Given the description of an element on the screen output the (x, y) to click on. 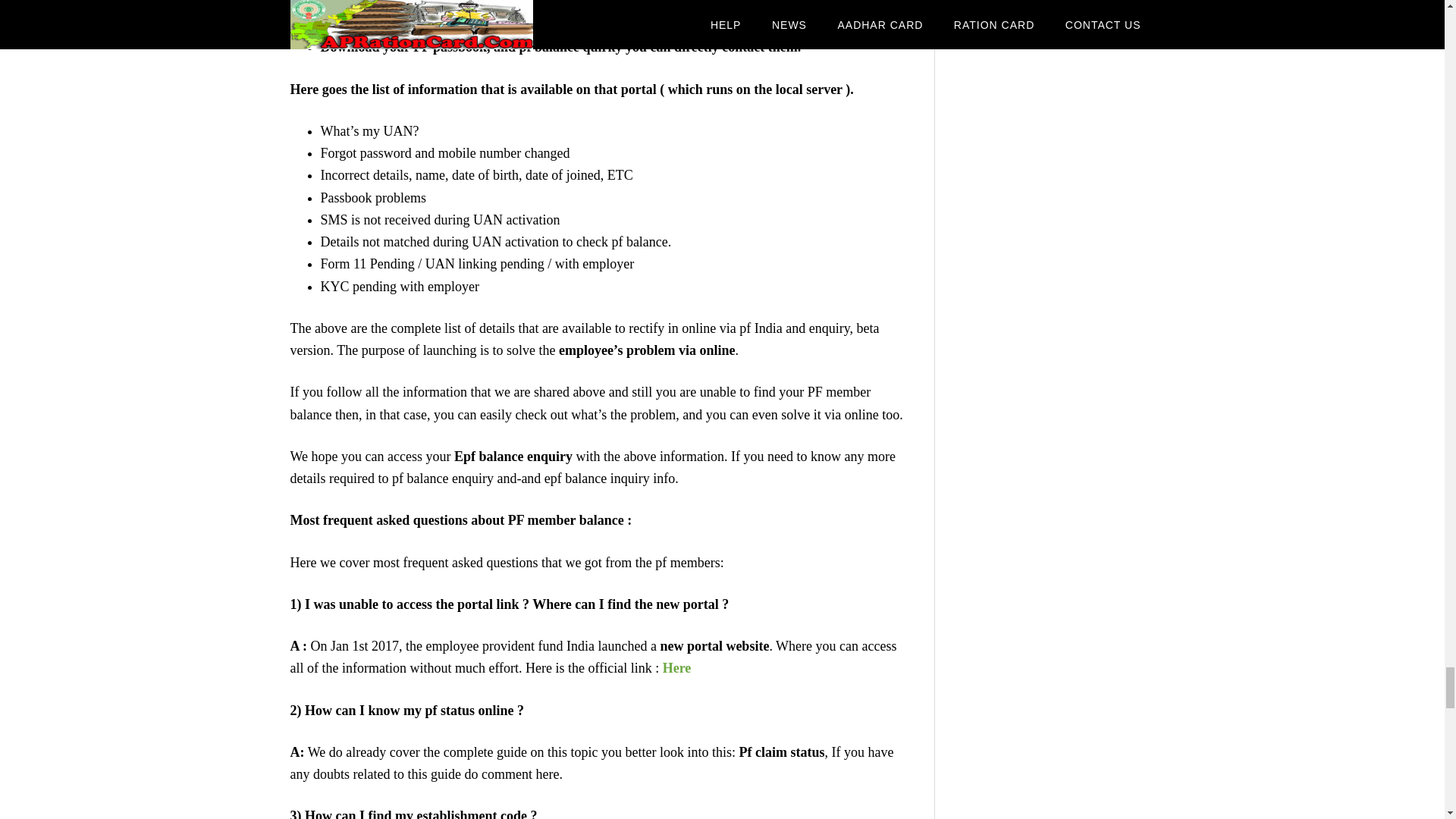
Here (676, 667)
